Given the description of an element on the screen output the (x, y) to click on. 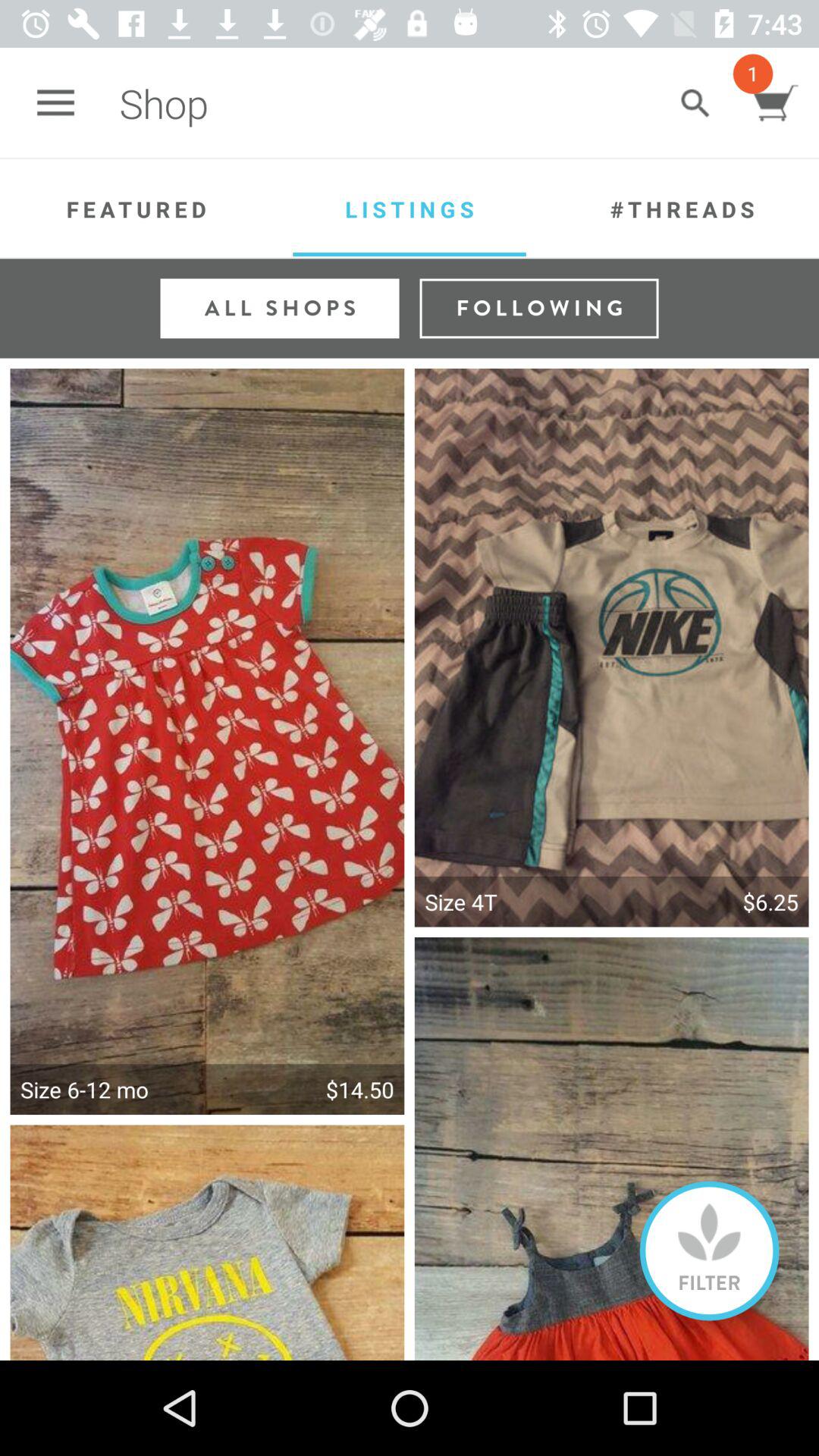
swipe until off item (709, 1250)
